Given the description of an element on the screen output the (x, y) to click on. 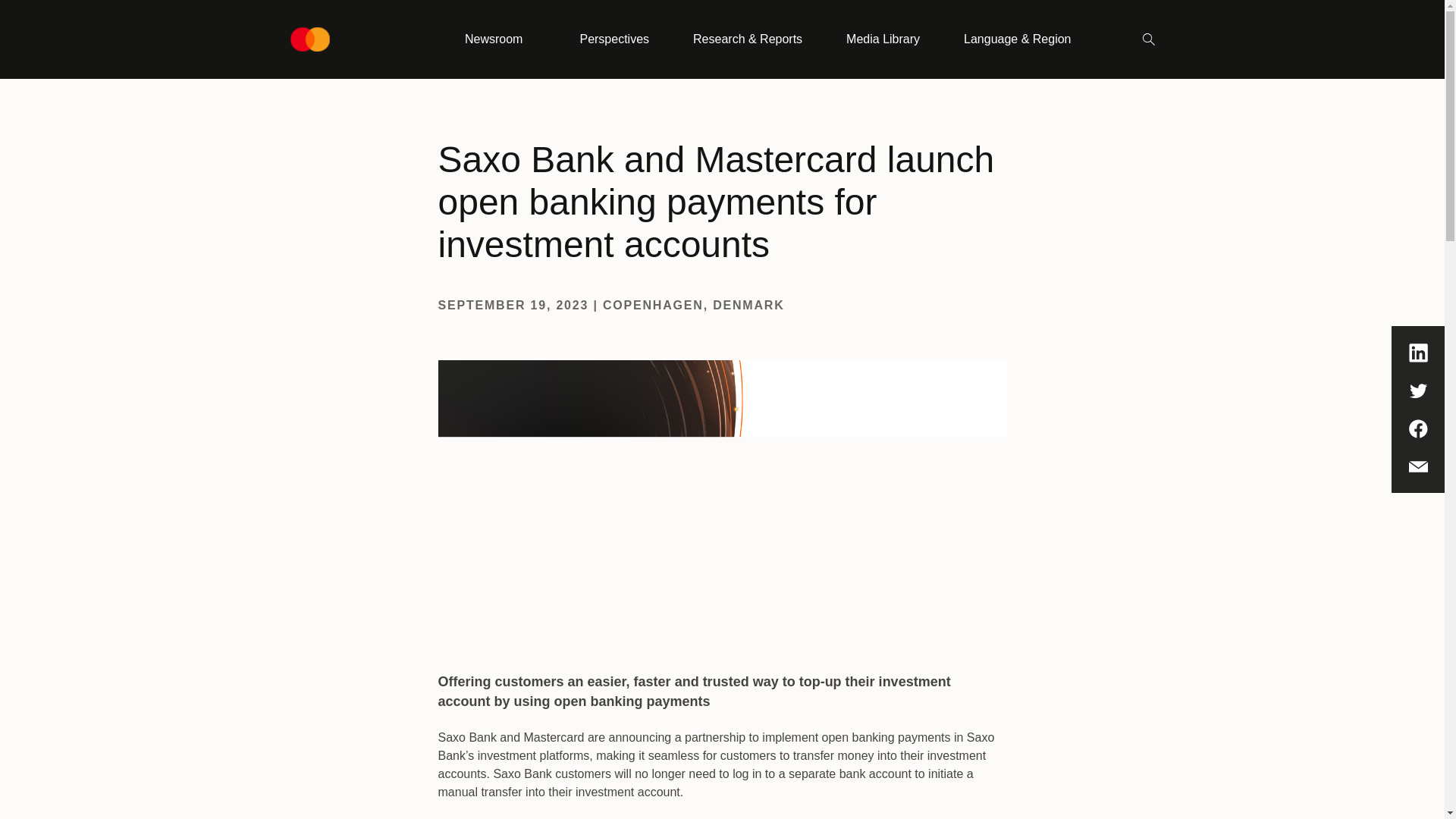
Perspectives (613, 39)
Media Library (883, 39)
Newsroom (499, 39)
